Given the description of an element on the screen output the (x, y) to click on. 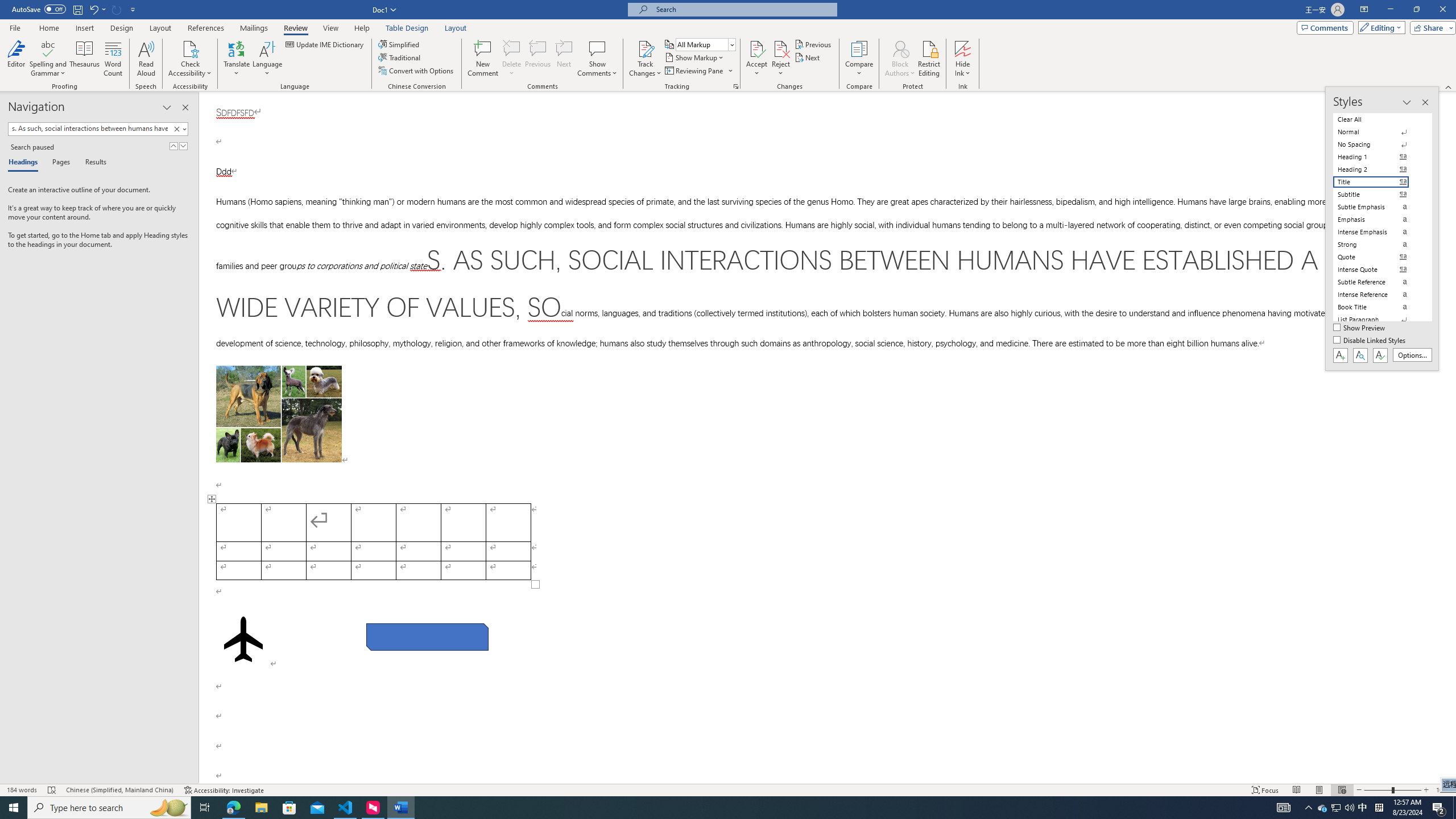
Read Aloud (145, 58)
Class: NetUIButton (1380, 355)
Language Chinese (Simplified, Mainland China) (119, 790)
Headings (25, 162)
Traditional (400, 56)
Options... (1412, 354)
Zoom 100% (1443, 790)
Clear (178, 128)
Subtle Emphasis (1377, 206)
Spelling and Grammar (48, 48)
Microsoft search (742, 9)
